Given the description of an element on the screen output the (x, y) to click on. 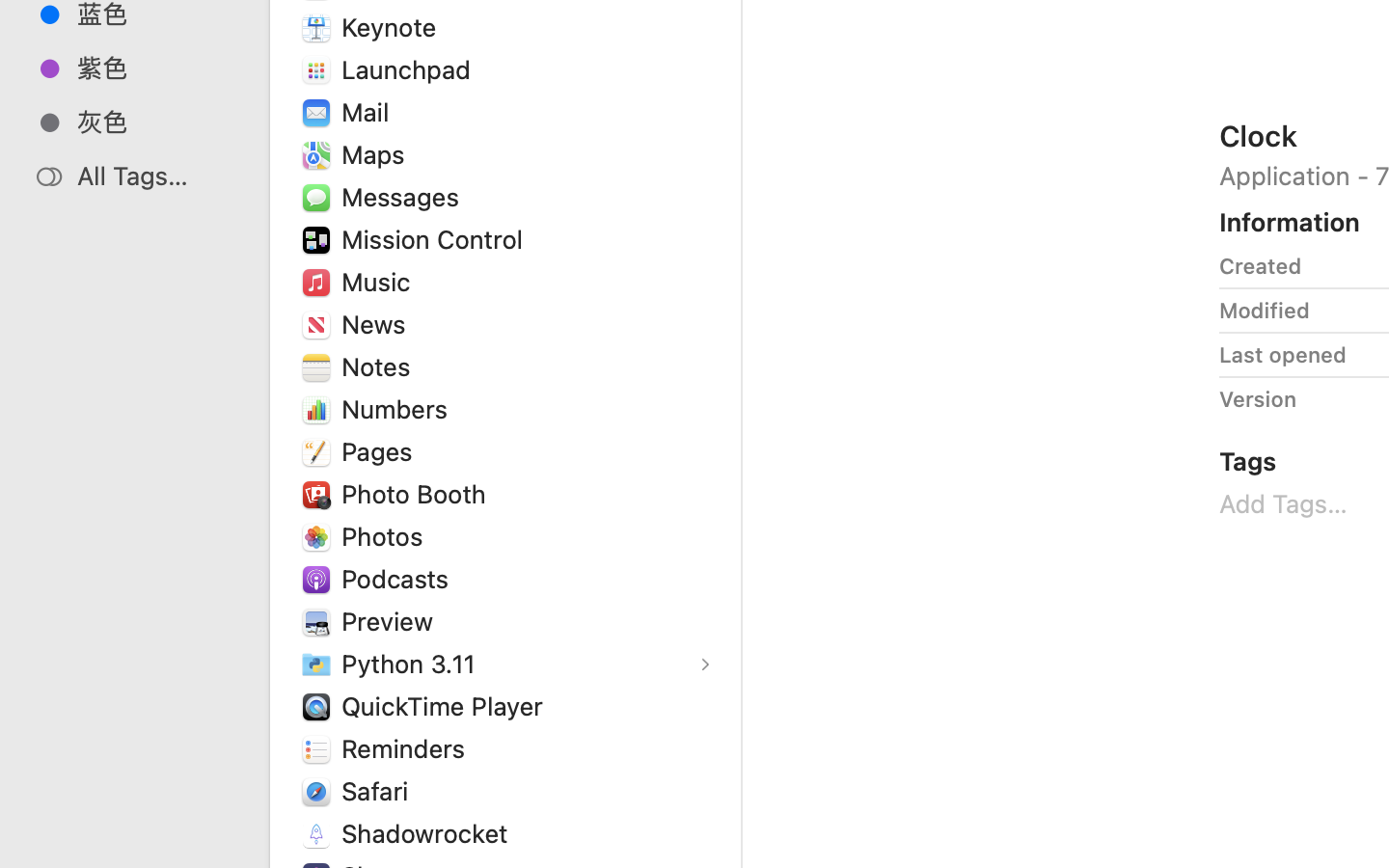
Version Element type: AXStaticText (1257, 398)
Reminders Element type: AXTextField (407, 747)
Notes Element type: AXTextField (379, 366)
紫色 Element type: AXStaticText (155, 67)
Pages Element type: AXTextField (380, 450)
